Given the description of an element on the screen output the (x, y) to click on. 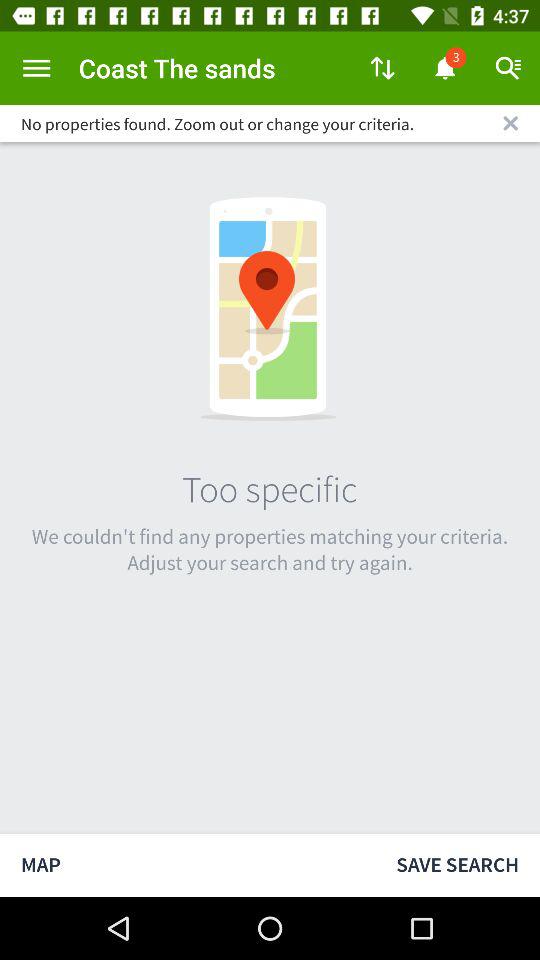
click the item to the left of the coast the sands (36, 68)
